Given the description of an element on the screen output the (x, y) to click on. 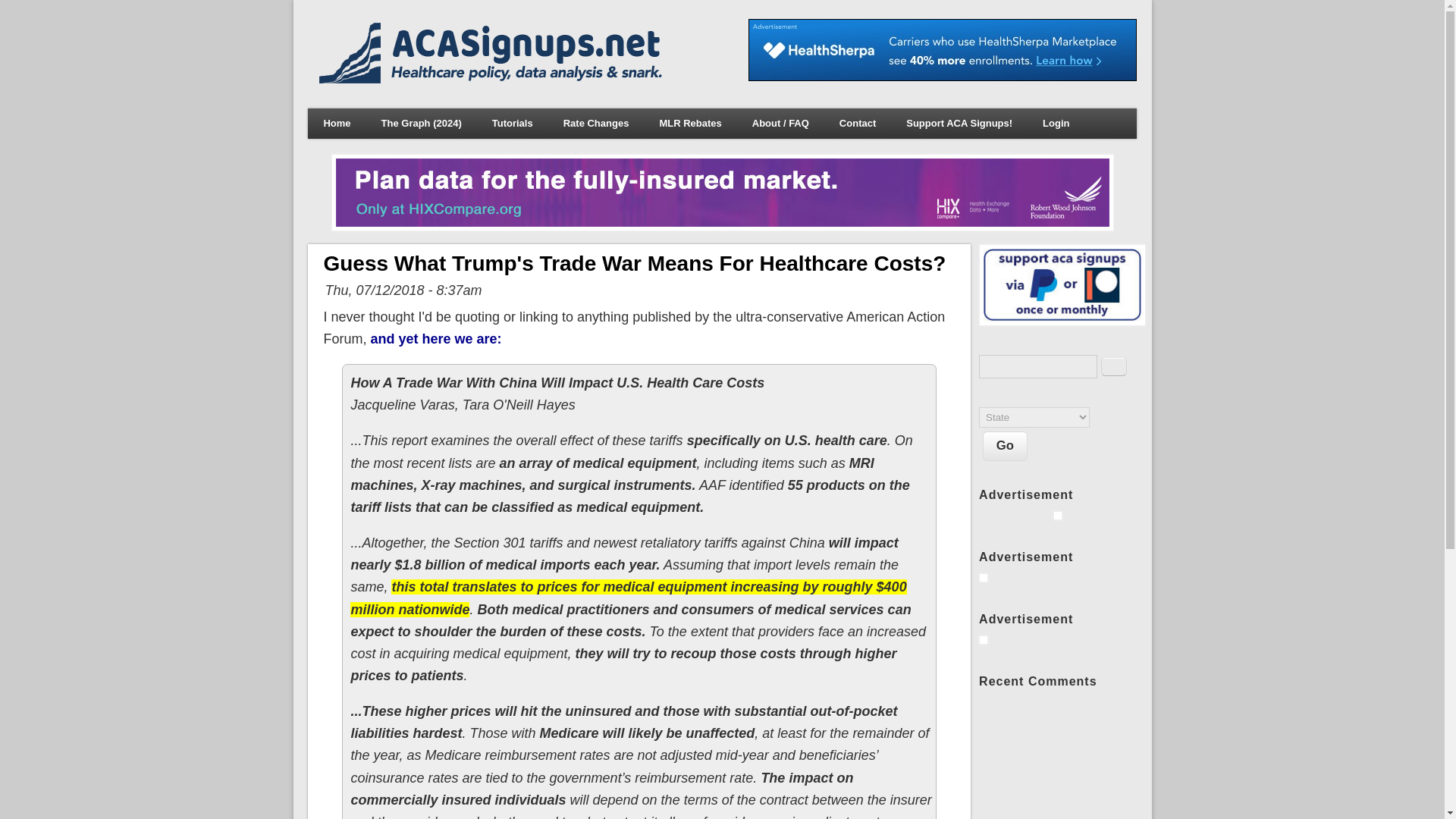
MLR Rebates (689, 123)
Home (493, 78)
Search (1113, 366)
Home (336, 123)
Tutorials (512, 123)
Go (1004, 446)
Rate Changes (596, 123)
Contact (857, 123)
